Given the description of an element on the screen output the (x, y) to click on. 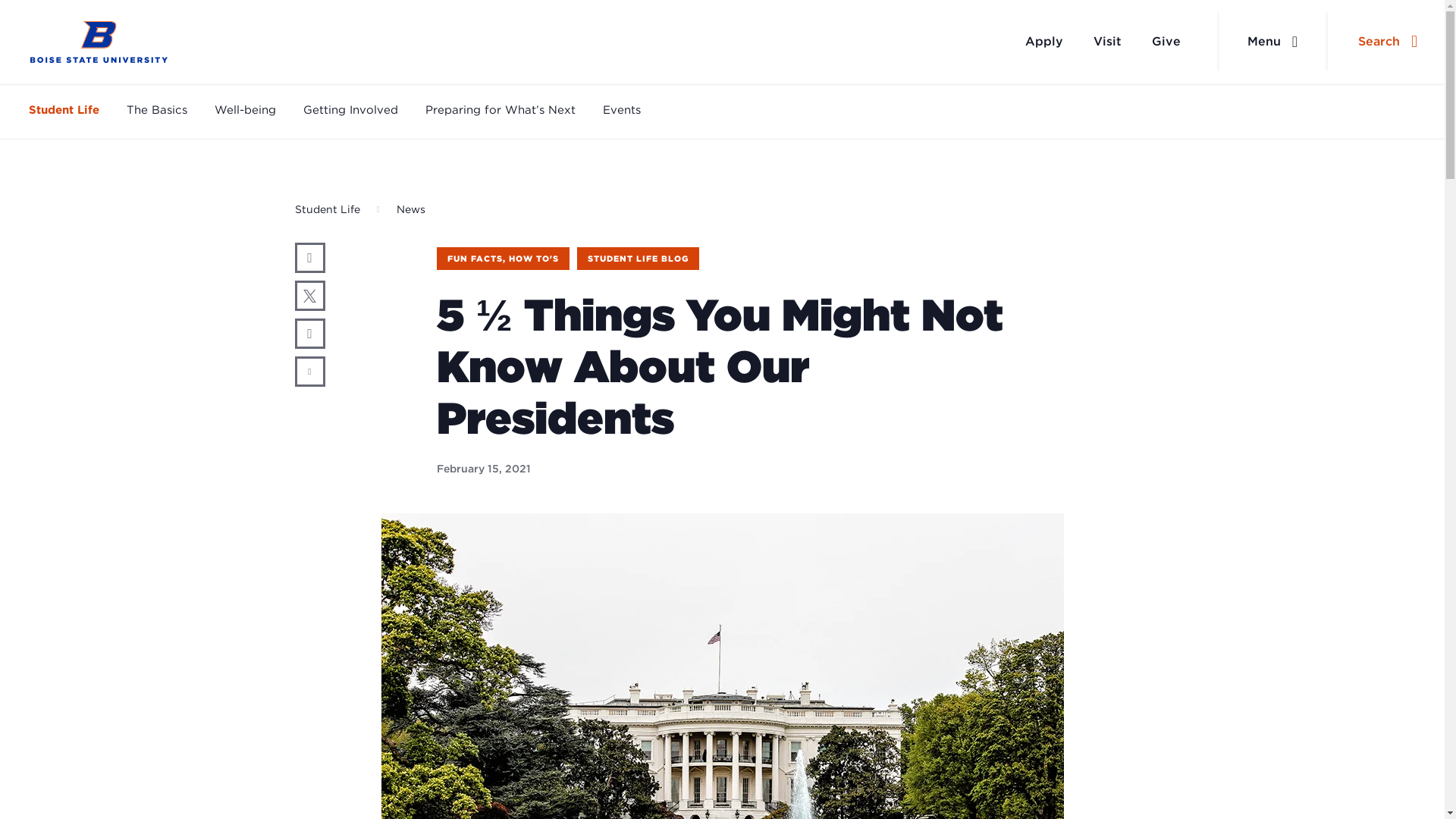
Getting Involved (349, 110)
Share on Twitter (309, 295)
STUDENT LIFE BLOG (637, 258)
FUN FACTS, HOW TO'S (502, 258)
Share on Facebook (309, 257)
News (410, 209)
Apply (1044, 41)
Share on Facebook (309, 257)
Student Life Home (98, 41)
The Basics (156, 110)
Share through Email (309, 371)
Share through Email (309, 371)
Student Life (64, 110)
Give (1166, 41)
Student Life (326, 209)
